Given the description of an element on the screen output the (x, y) to click on. 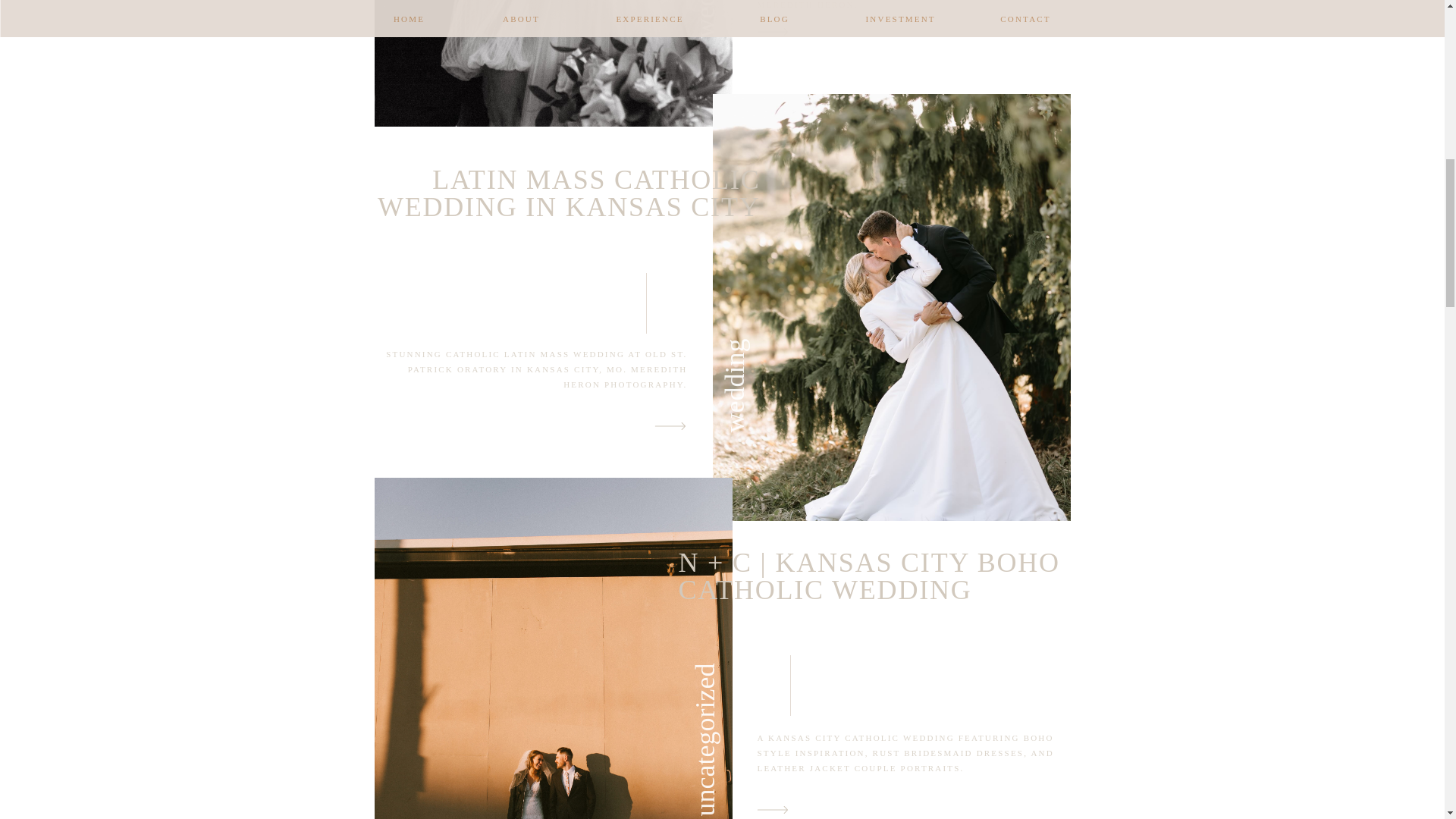
Ritz Carlton St. Louis Wedding (553, 63)
uncategorized (765, 678)
Latin Mass Catholic Wedding in Kansas City (670, 425)
wedding (765, 354)
Ritz Carlton St. Louis Wedding (772, 31)
LATIN MASS CATHOLIC WEDDING IN KANSAS CITY (568, 192)
